Given the description of an element on the screen output the (x, y) to click on. 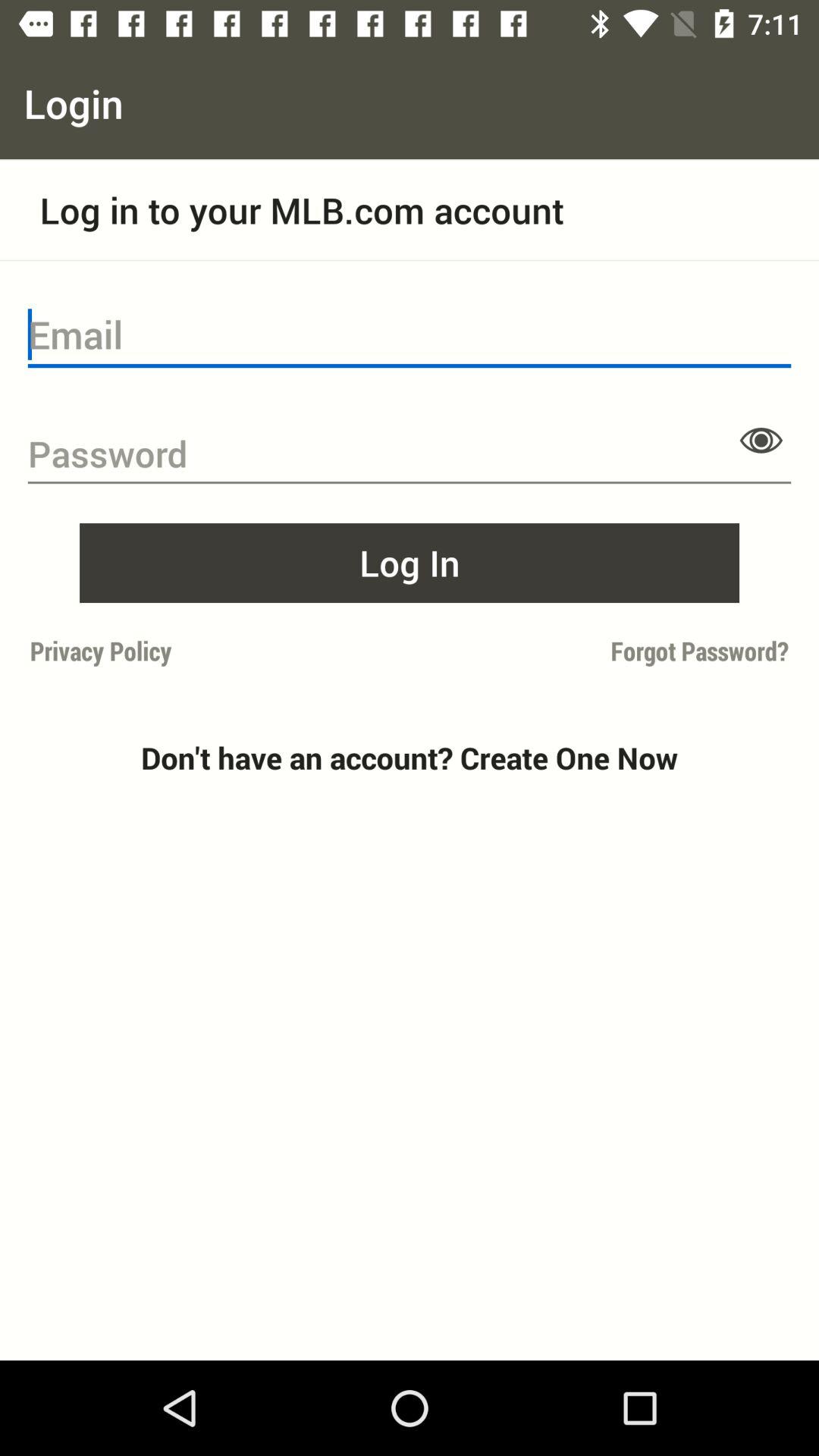
scroll to the privacy policy item (214, 650)
